Given the description of an element on the screen output the (x, y) to click on. 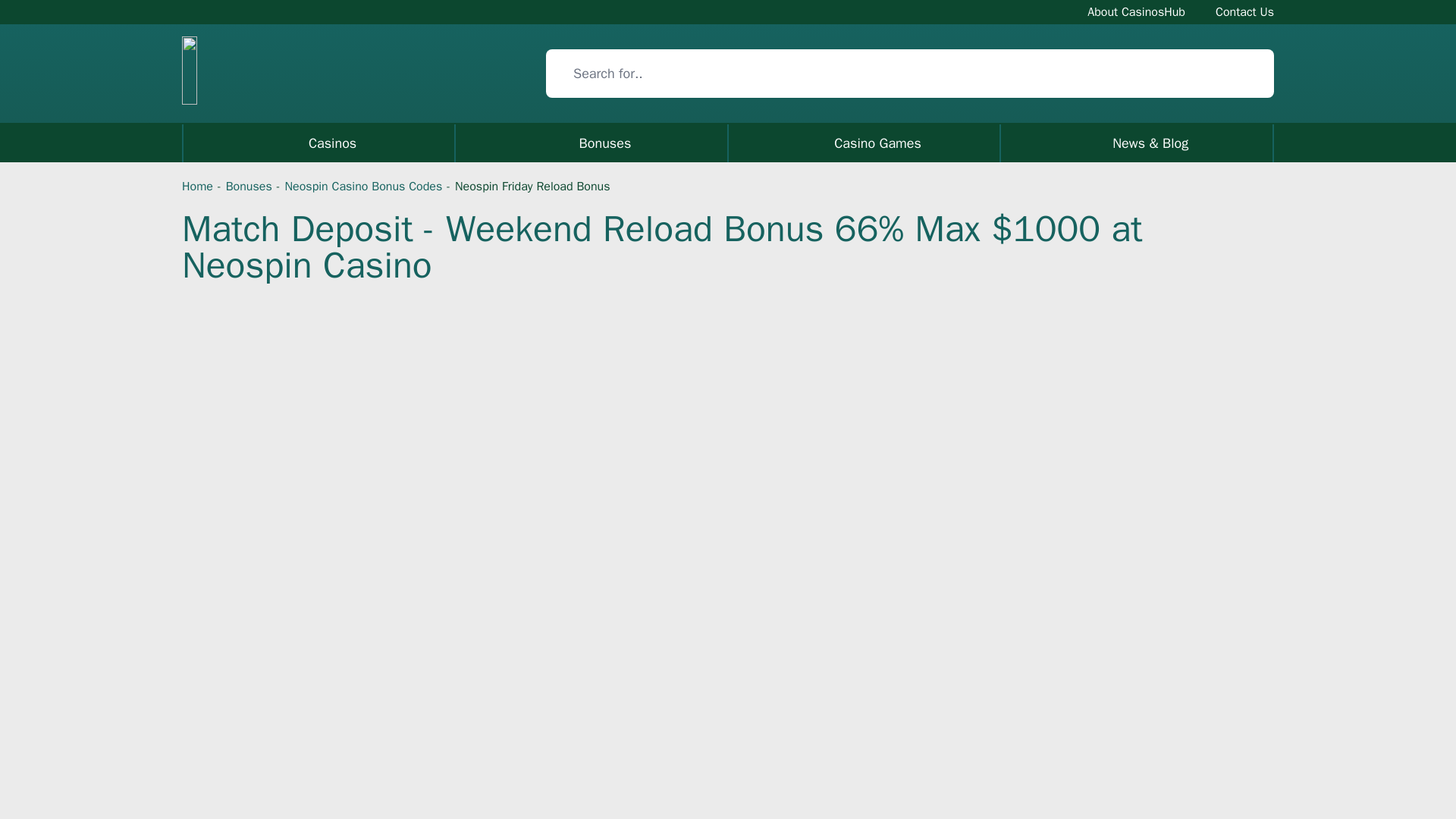
Contact Us (1244, 11)
About CasinosHub (1136, 11)
Home (197, 186)
Bonuses (248, 186)
Neospin Casino Bonus Codes (363, 186)
